Given the description of an element on the screen output the (x, y) to click on. 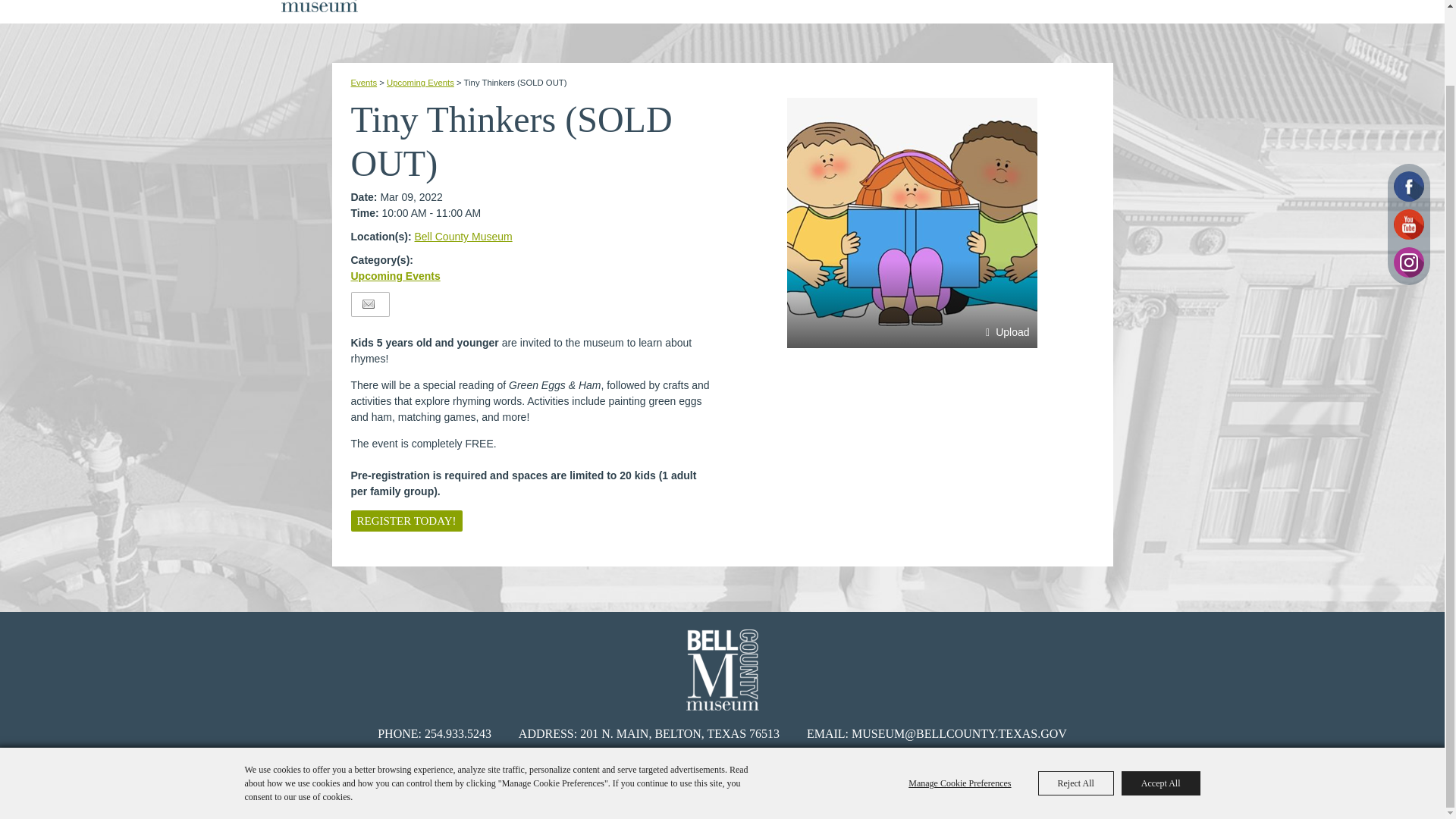
Email to Friend (368, 304)
